Given the description of an element on the screen output the (x, y) to click on. 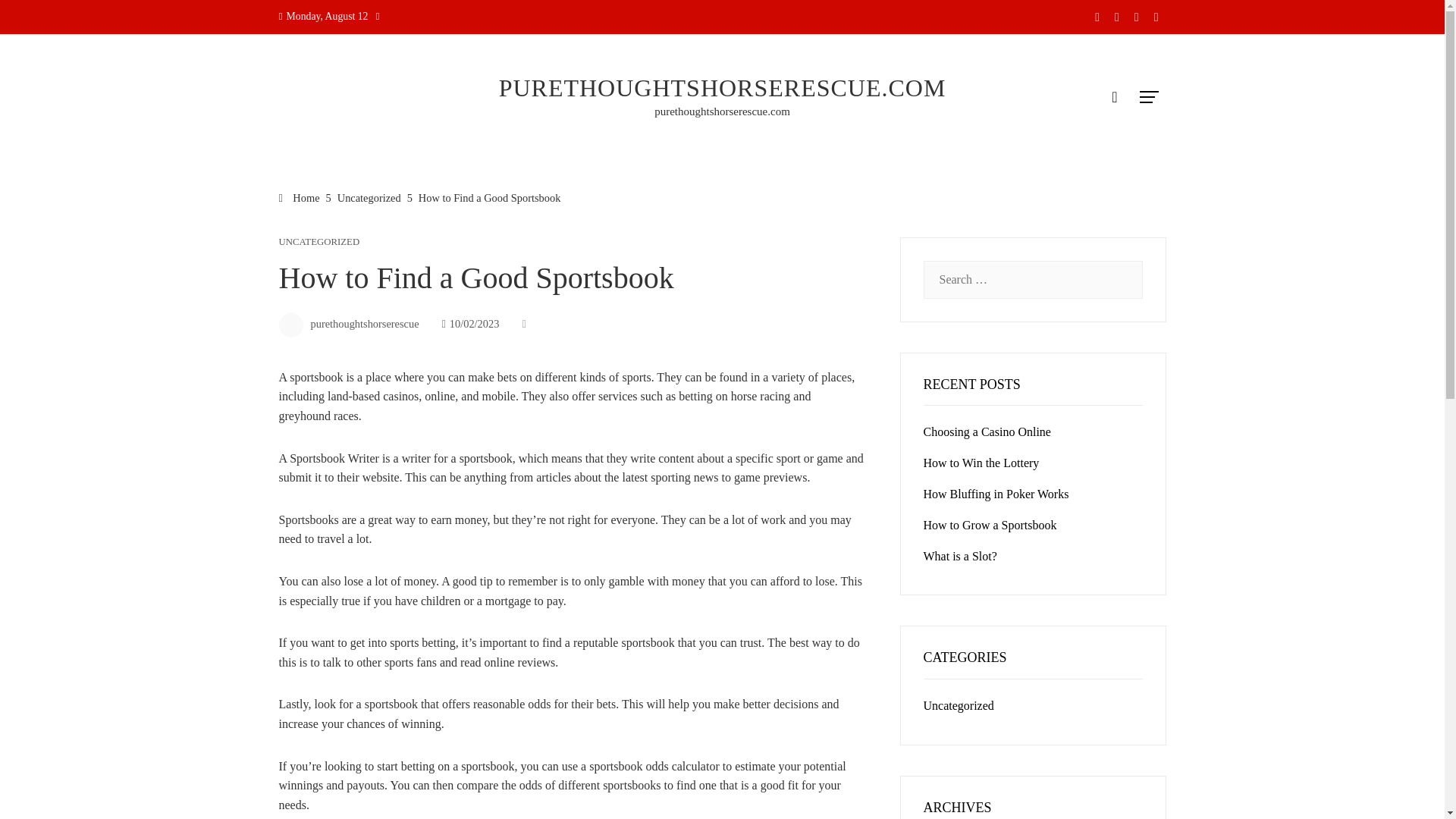
PURETHOUGHTSHORSERESCUE.COM (722, 87)
Uncategorized (369, 197)
How to Grow a Sportsbook (990, 524)
Home (299, 197)
How to Win the Lottery (981, 462)
Choosing a Casino Online (987, 431)
UNCATEGORIZED (319, 242)
How Bluffing in Poker Works (995, 493)
Uncategorized (958, 705)
purethoughtshorserescue.com (721, 111)
